Given the description of an element on the screen output the (x, y) to click on. 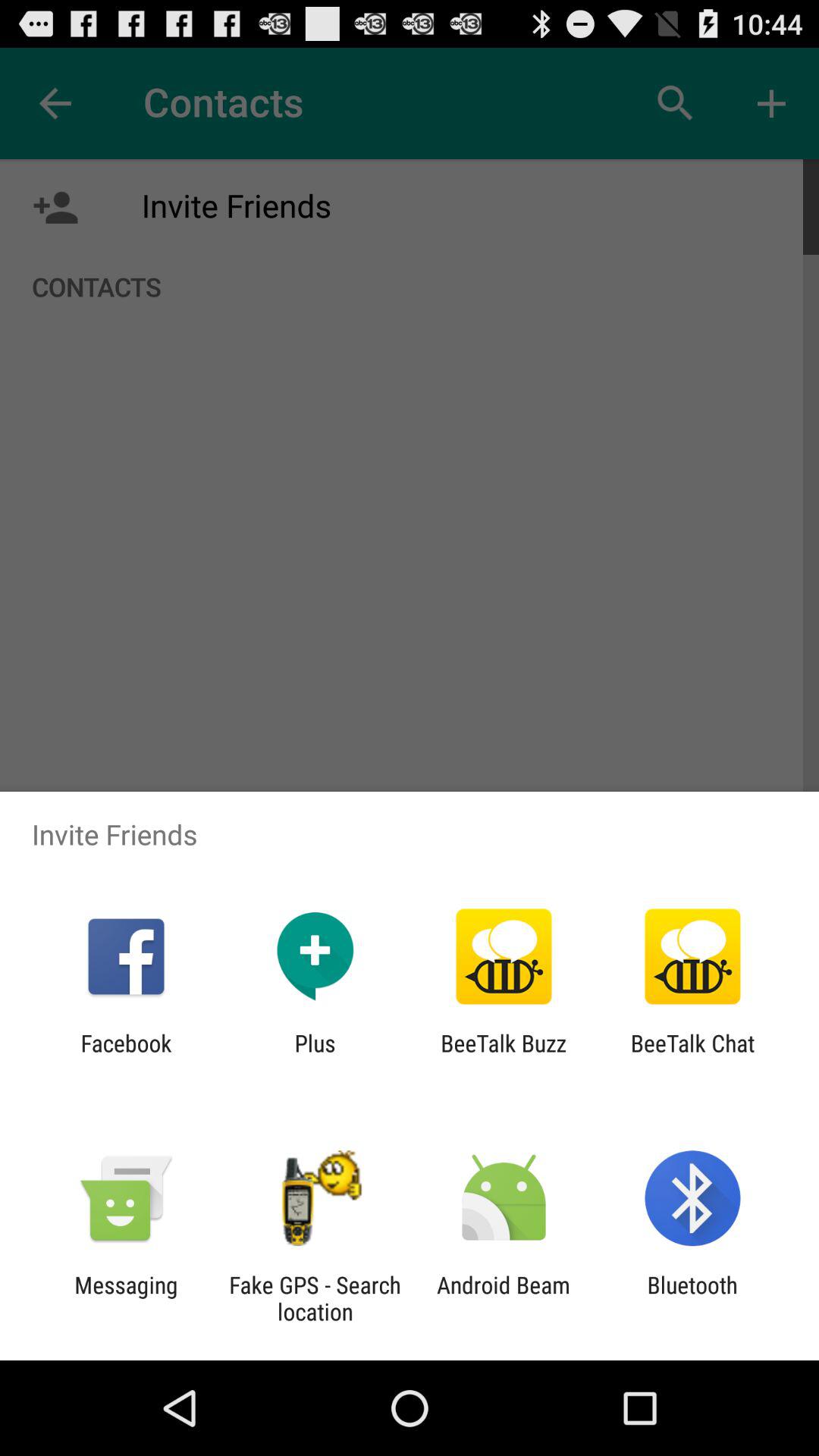
scroll to beetalk chat (692, 1056)
